Given the description of an element on the screen output the (x, y) to click on. 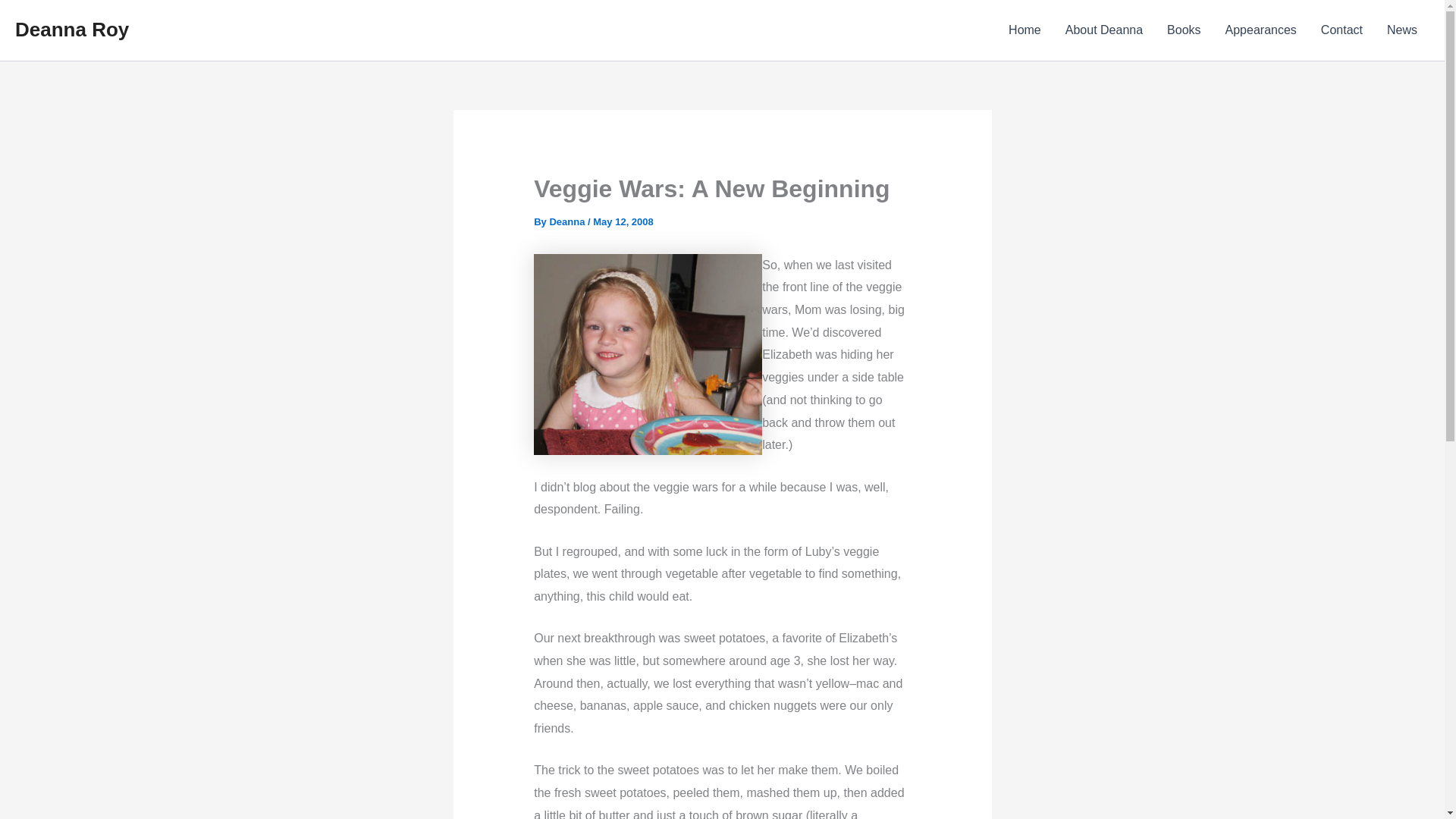
Contact (1341, 30)
Deanna (568, 221)
News (1401, 30)
Home (1023, 30)
Books (1183, 30)
About Deanna (1103, 30)
Deanna Roy (71, 29)
Appearances (1260, 30)
web-eliza-happy.jpg (647, 354)
View all posts by Deanna (568, 221)
